Given the description of an element on the screen output the (x, y) to click on. 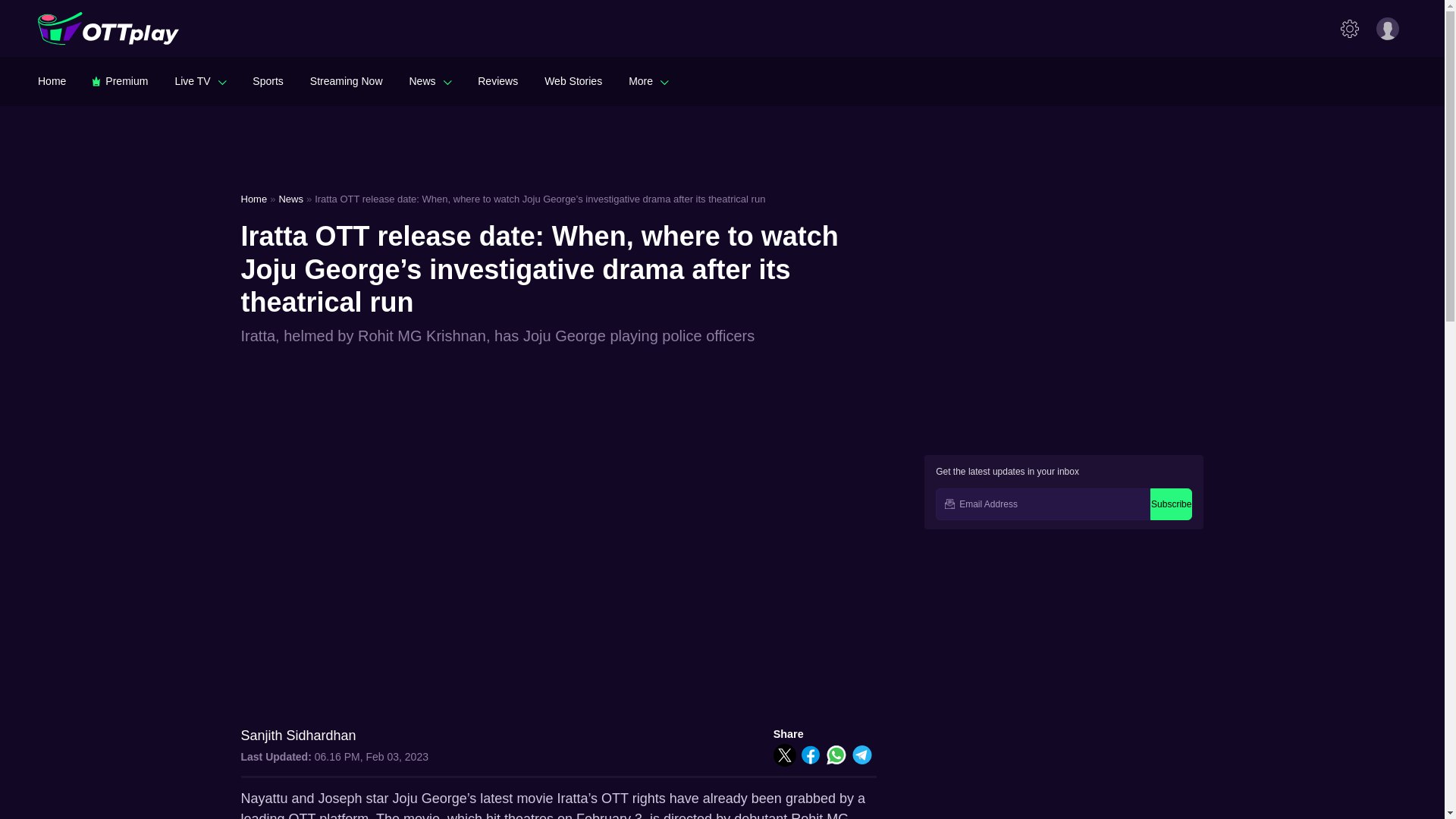
Streaming Now (346, 80)
Web Stories (573, 80)
News (430, 80)
Premium (120, 80)
Live TV (199, 80)
